Given the description of an element on the screen output the (x, y) to click on. 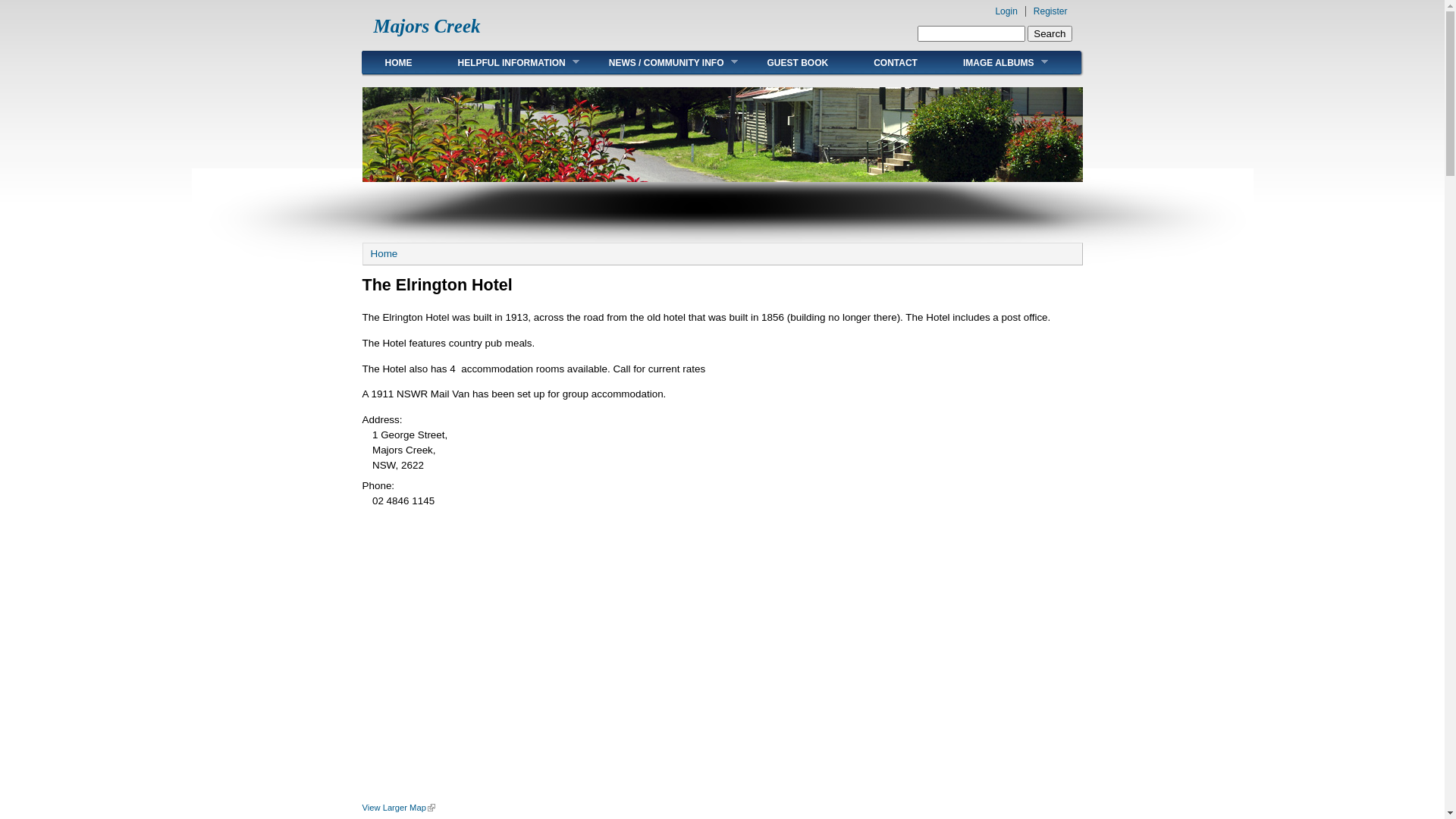
GUEST BOOK Element type: text (797, 62)
HOME Element type: text (398, 62)
Enter the terms you wish to search for. Element type: hover (970, 33)
Home Element type: text (383, 253)
Search Element type: text (1049, 33)
CONTACT Element type: text (895, 62)
View Larger Map
(link is external) Element type: text (398, 807)
Majors Creek Element type: text (426, 25)
Register Element type: text (1050, 11)
Login Element type: text (1005, 11)
